Given the description of an element on the screen output the (x, y) to click on. 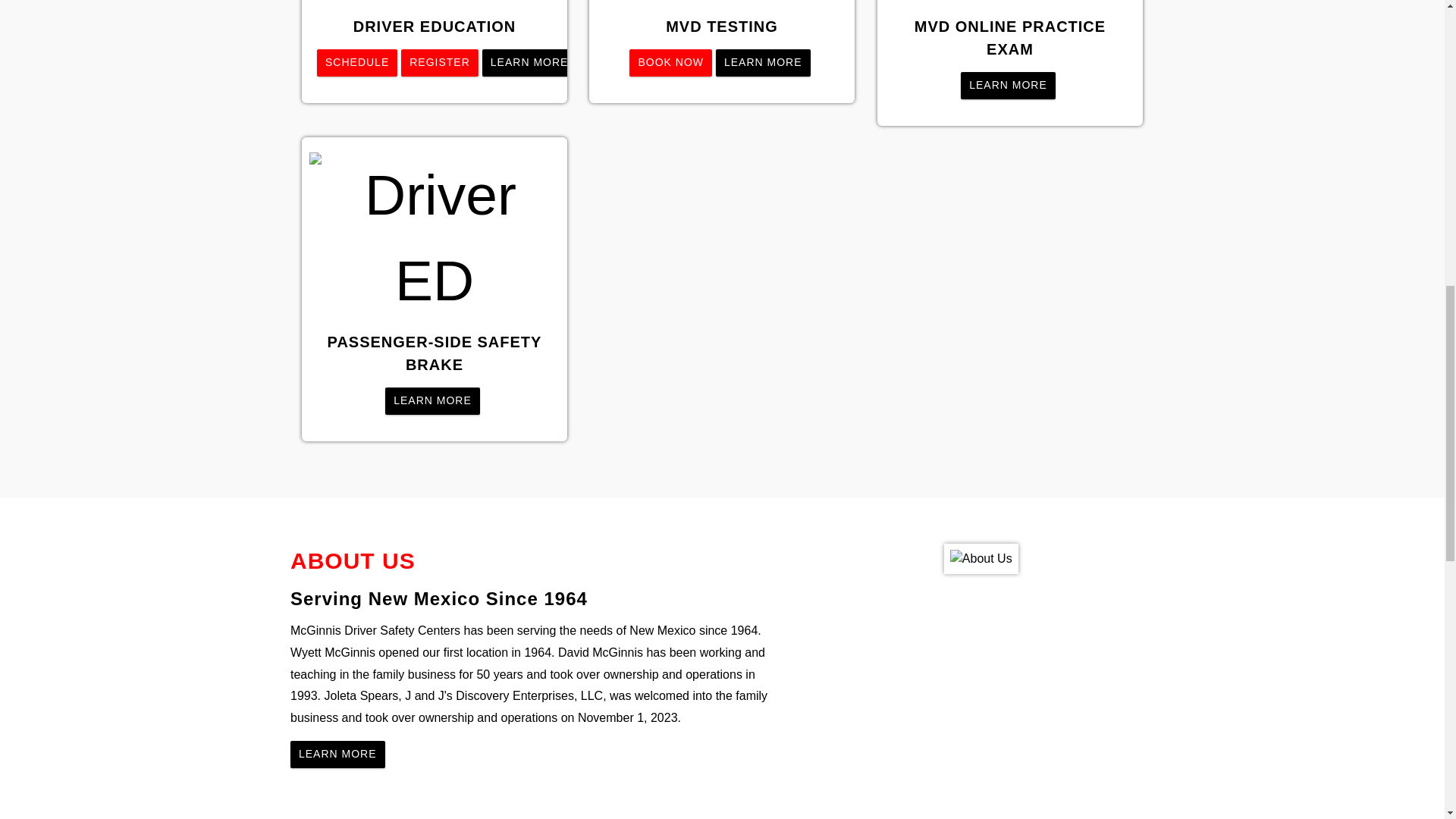
LEARN MORE (1008, 85)
LEARN MORE (763, 62)
SCHEDULE (357, 62)
LEARN MORE (432, 400)
BOOK NOW (671, 62)
LEARN MORE (528, 62)
LEARN MORE (336, 754)
REGISTER (440, 62)
